Given the description of an element on the screen output the (x, y) to click on. 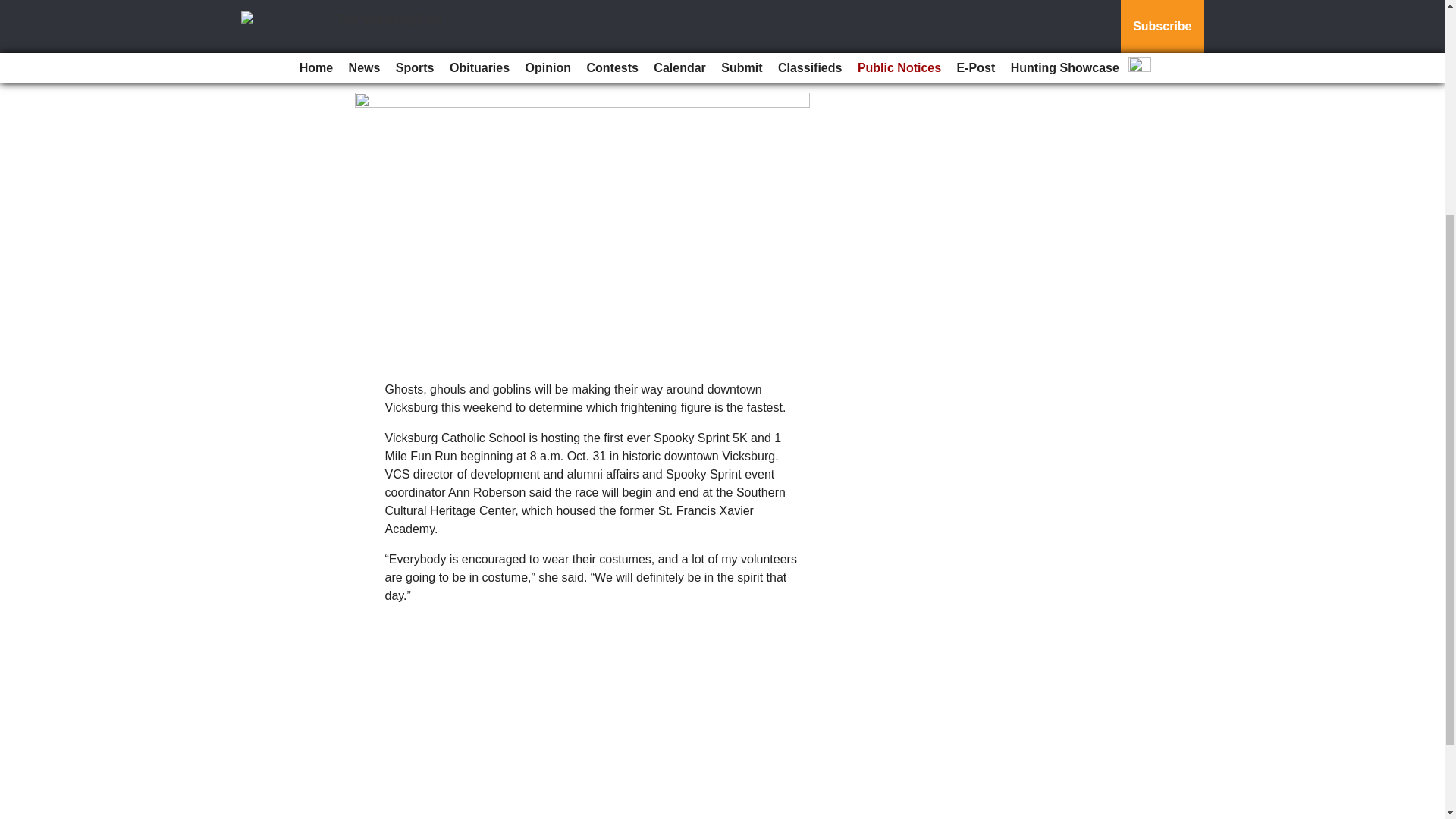
Austin Vining (394, 72)
